Given the description of an element on the screen output the (x, y) to click on. 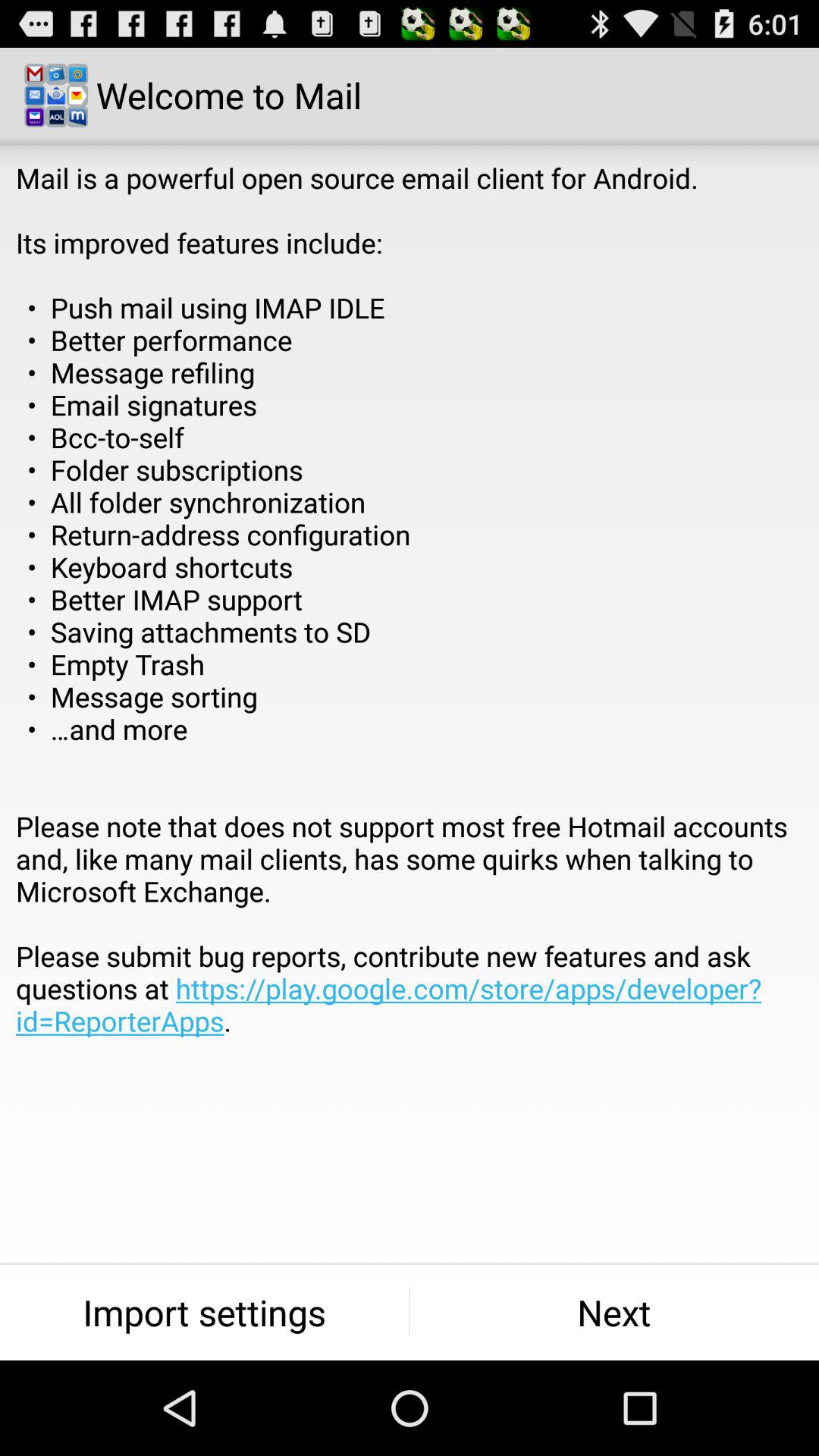
click item at the bottom left corner (204, 1312)
